Given the description of an element on the screen output the (x, y) to click on. 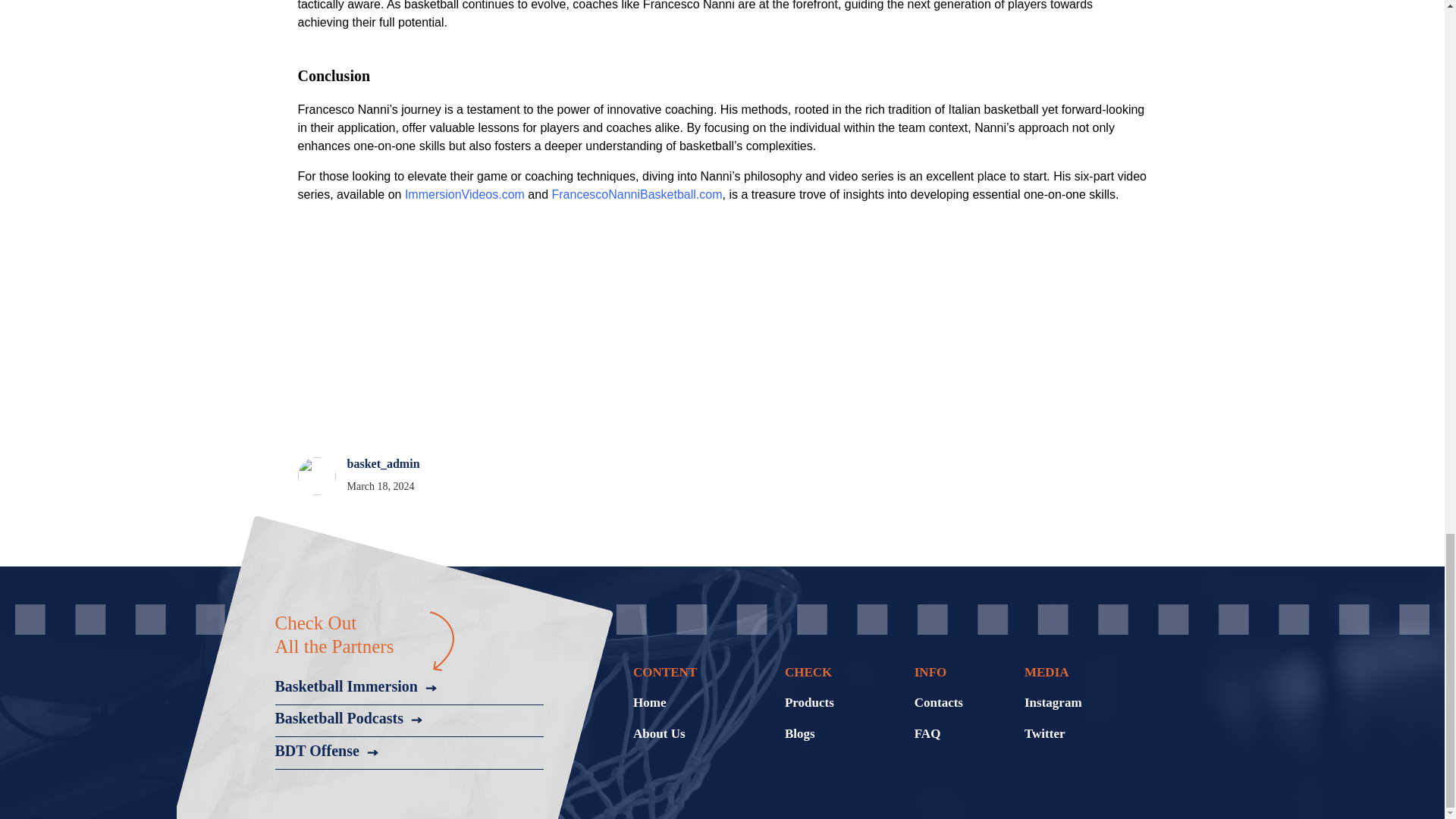
ImmersionVideos.com (464, 194)
Contacts (938, 702)
BDT Offense (326, 751)
FAQ (927, 734)
Blogs (799, 734)
Home (649, 702)
FrancescoNanniBasketball.com (636, 194)
Products (809, 702)
Instagram (1053, 702)
About Us (659, 734)
Basketball Podcasts (348, 718)
Basketball Immersion (355, 686)
Developing 1-on-1 Skills with Francesco Nanni Trailer (496, 327)
Twitter (1045, 734)
